Given the description of an element on the screen output the (x, y) to click on. 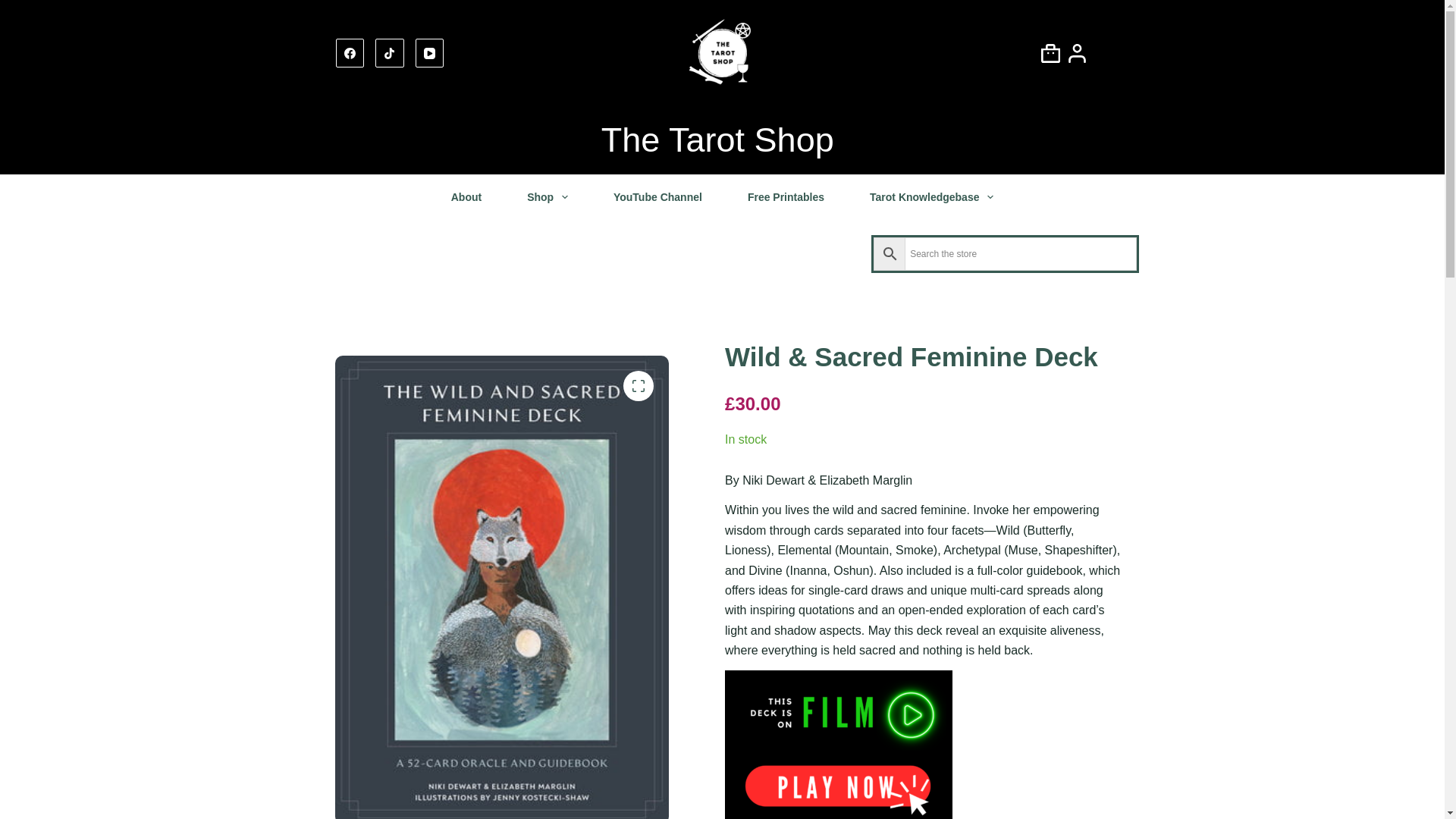
Free Printables (786, 197)
Skip to content (15, 7)
Shop (547, 197)
About (465, 197)
Tarot Knowledgebase (931, 197)
YouTube Channel (658, 197)
